Given the description of an element on the screen output the (x, y) to click on. 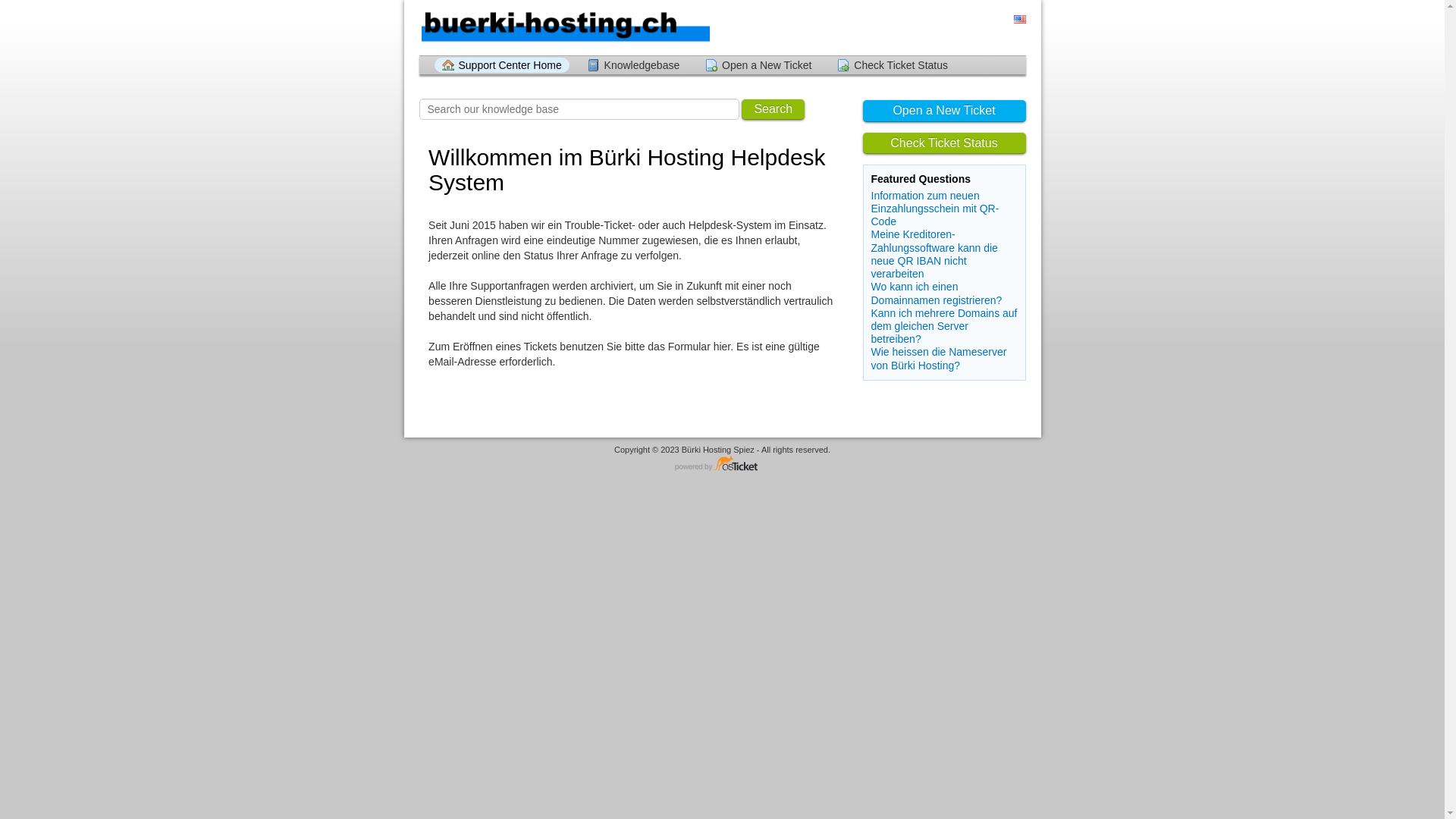
Open a New Ticket Element type: text (944, 111)
Knowledgebase Element type: text (633, 64)
Helpdesk software - powered by osTicket Element type: text (722, 464)
Information zum neuen Einzahlungsschein mit QR-Code Element type: text (934, 208)
  Element type: text (1019, 19)
Deutsch (V1) Element type: hover (1004, 19)
Check Ticket Status Element type: text (892, 64)
Wo kann ich einen Domainnamen registrieren? Element type: text (935, 292)
English (United States) (Englisch (Vereinigte Staaten)) Element type: hover (1019, 19)
  Element type: text (1004, 19)
Support Center Element type: hover (563, 26)
Search Element type: text (772, 109)
Kann ich mehrere Domains auf dem gleichen Server betreiben? Element type: text (943, 326)
Open a New Ticket Element type: text (758, 64)
Check Ticket Status Element type: text (944, 143)
Support Center Home Element type: text (500, 64)
